Given the description of an element on the screen output the (x, y) to click on. 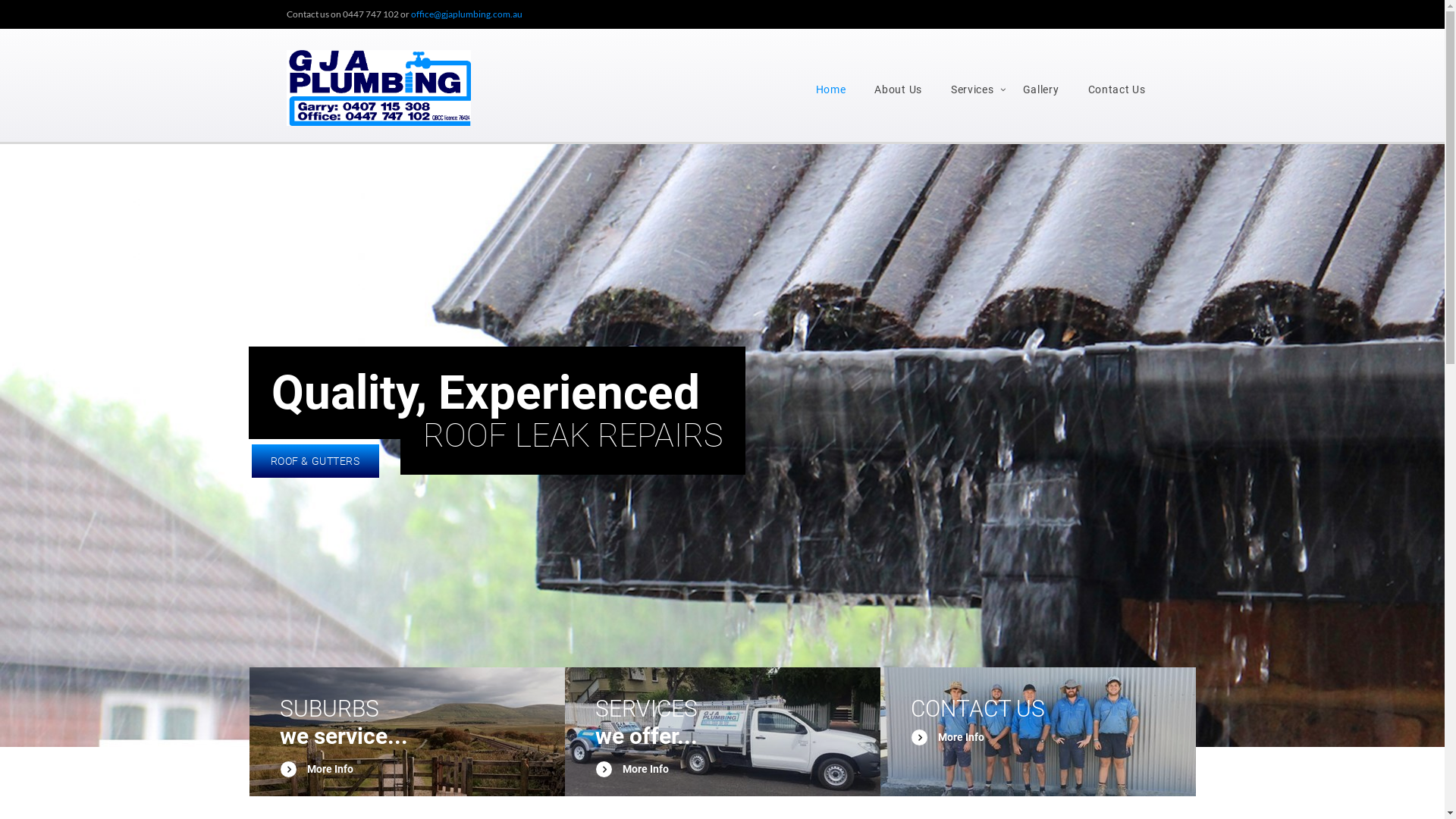
Home Element type: text (831, 89)
Gallery Element type: text (1041, 89)
ROOF & GUTTERS
ROOF & GUTTERS Element type: text (315, 460)
SERVICES
we offer...
More Info
More Info Element type: text (721, 731)
Contact Us Element type: text (1116, 89)
About Us Element type: text (898, 89)
office@gjaplumbing.com.au Element type: text (466, 13)
CONTACT US
More Info
More Info Element type: text (1037, 731)
Services Element type: text (972, 89)
SUBURBS
we service...
More Info
More Info Element type: text (406, 731)
2 Element type: text (730, 724)
1 Element type: text (713, 724)
